Given the description of an element on the screen output the (x, y) to click on. 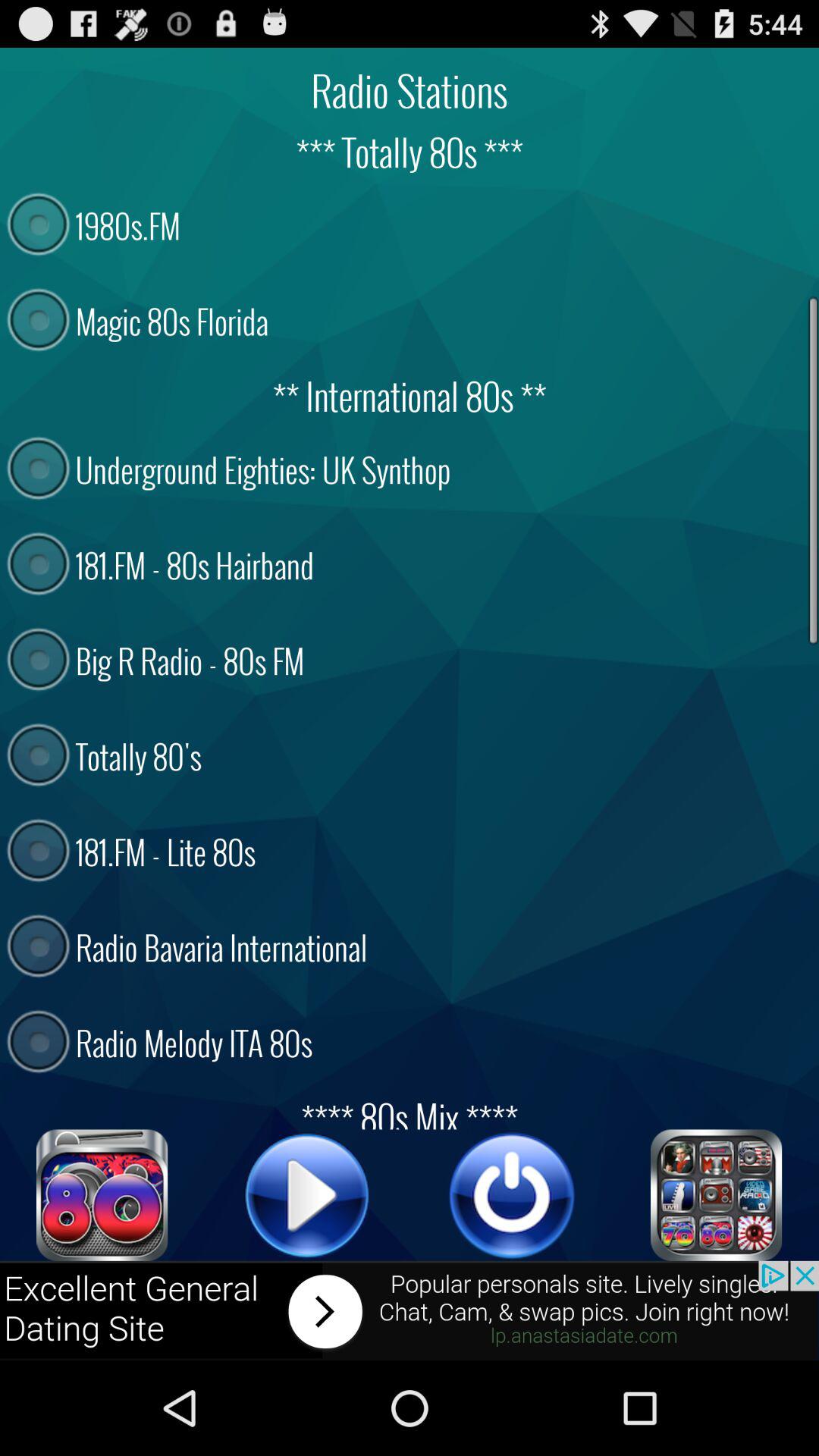
play the song (306, 1194)
